Given the description of an element on the screen output the (x, y) to click on. 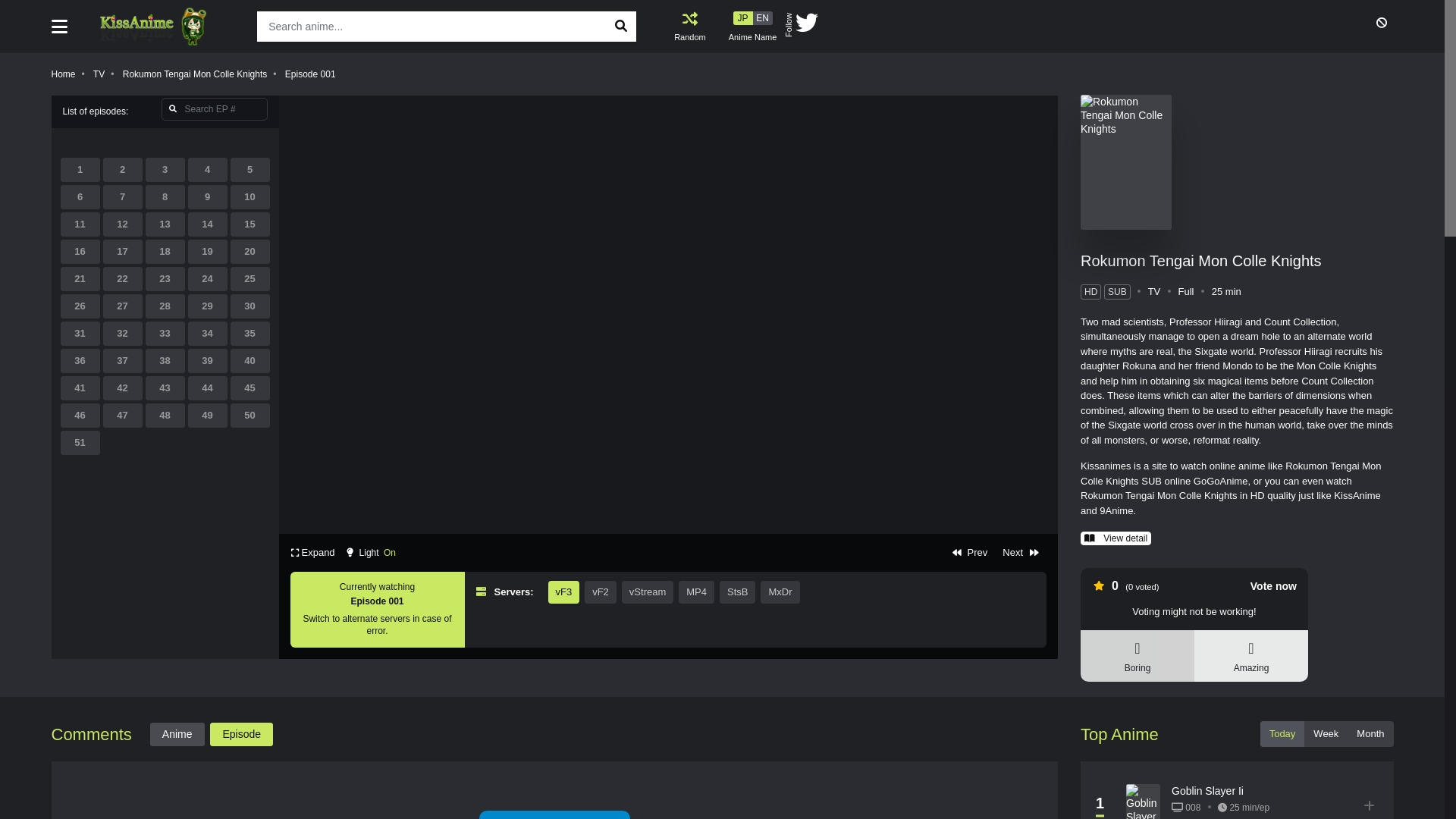
24 Element type: text (207, 278)
Today Element type: text (1282, 733)
Goblin Slayer Ii Element type: text (1207, 790)
Kissanimes Element type: hover (164, 26)
30 Element type: text (249, 306)
10 Element type: text (249, 197)
44 Element type: text (207, 388)
Episode 001 Element type: text (310, 74)
Prev Element type: text (969, 552)
MP4 Element type: text (696, 591)
33 Element type: text (165, 333)
27 Element type: text (122, 306)
34 Element type: text (207, 333)
17 Element type: text (122, 251)
12 Element type: text (122, 224)
8 Element type: text (165, 197)
TV Element type: text (98, 74)
29 Element type: text (207, 306)
vF3 Element type: text (563, 591)
23 Element type: text (165, 278)
Rokumon Tengai Mon Colle Knights Element type: text (194, 74)
16 Element type: text (80, 251)
25 Element type: text (249, 278)
Episode Element type: text (241, 734)
40 Element type: text (249, 360)
MxDr Element type: text (779, 591)
Next Element type: text (1020, 552)
Rokumon Tengai Mon Colle Knights Element type: text (1200, 260)
47 Element type: text (122, 415)
46 Element type: text (80, 415)
20 Element type: text (249, 251)
1 Element type: text (80, 169)
14 Element type: text (207, 224)
35 Element type: text (249, 333)
5 Element type: text (249, 169)
28 Element type: text (165, 306)
vF2 Element type: text (600, 591)
45 Element type: text (249, 388)
View detail Element type: text (1115, 538)
15 Element type: text (249, 224)
41 Element type: text (80, 388)
22 Element type: text (122, 278)
39 Element type: text (207, 360)
Expand Element type: text (312, 552)
4 Element type: text (207, 169)
3 Element type: text (165, 169)
38 Element type: text (165, 360)
vStream Element type: text (647, 591)
42 Element type: text (122, 388)
11 Element type: text (80, 224)
Week Element type: text (1325, 733)
13 Element type: text (165, 224)
Month Element type: text (1370, 733)
50 Element type: text (249, 415)
36 Element type: text (80, 360)
9 Element type: text (207, 197)
19 Element type: text (207, 251)
37 Element type: text (122, 360)
51 Element type: text (80, 442)
Home Element type: text (63, 74)
49 Element type: text (207, 415)
48 Element type: text (165, 415)
7 Element type: text (122, 197)
21 Element type: text (80, 278)
StsB Element type: text (737, 591)
Follow Element type: text (802, 26)
31 Element type: text (80, 333)
2 Element type: text (122, 169)
32 Element type: text (122, 333)
6 Element type: text (80, 197)
Random Element type: text (690, 26)
Anime Element type: text (177, 734)
26 Element type: text (80, 306)
43 Element type: text (165, 388)
18 Element type: text (165, 251)
